Given the description of an element on the screen output the (x, y) to click on. 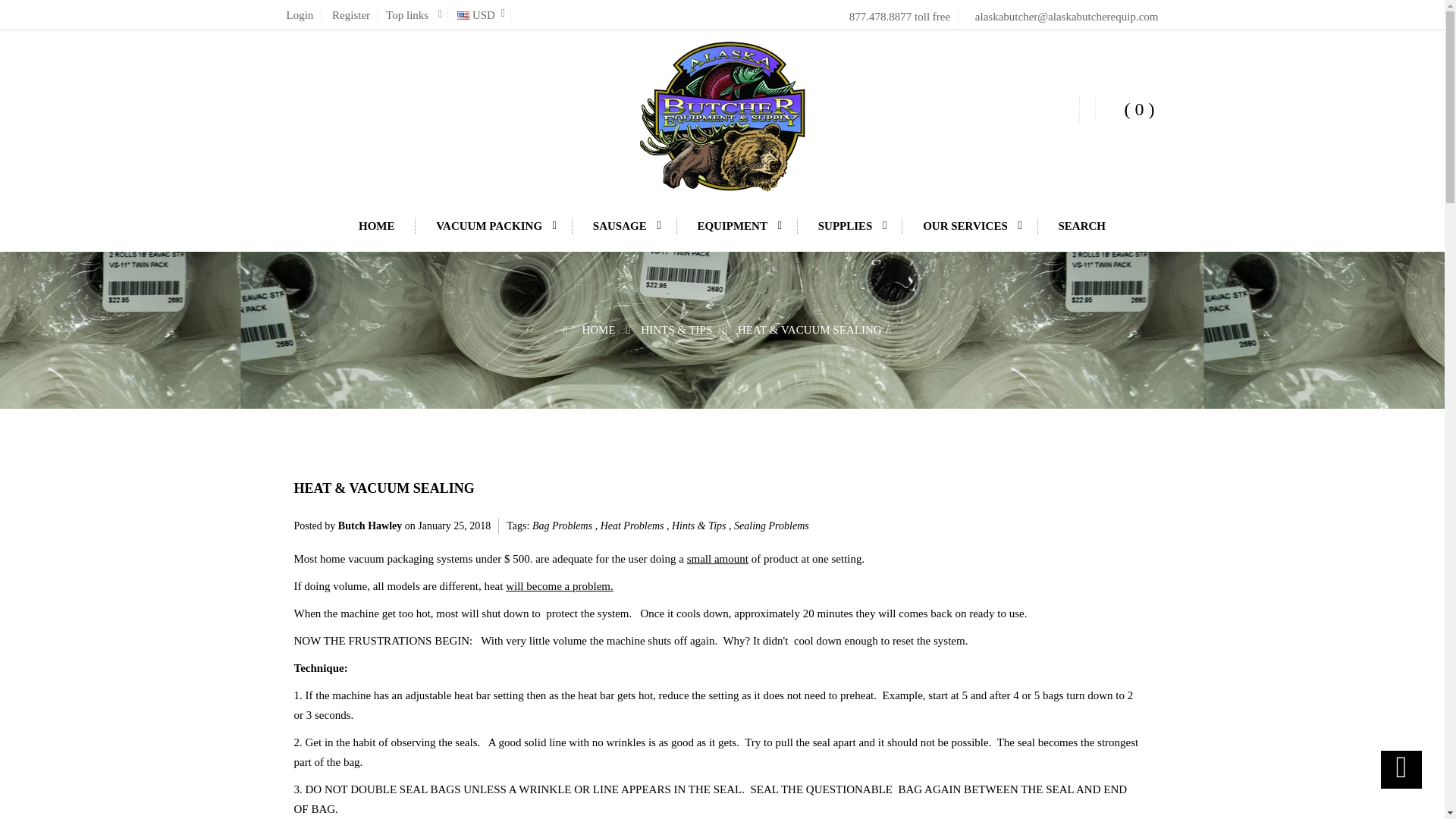
Log in (300, 15)
HOME (378, 226)
Register (351, 15)
EQUIPMENT (738, 226)
Login (300, 15)
VACUUM PACKING (495, 226)
Register (351, 15)
SAUSAGE (626, 226)
Vacuum Packing (495, 226)
Home (378, 226)
